Given the description of an element on the screen output the (x, y) to click on. 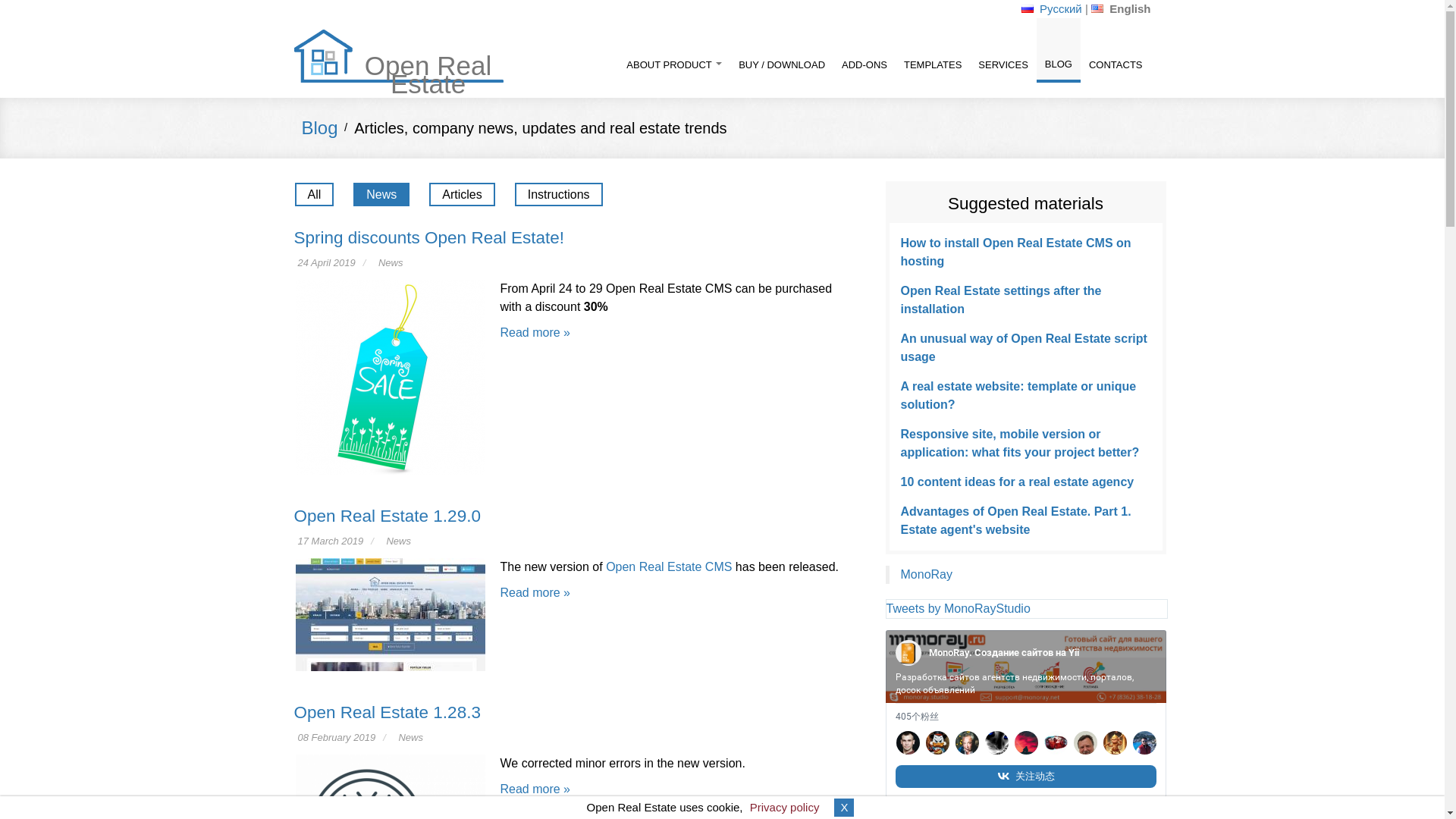
Spring discounts Open Real Estate! (429, 237)
ADD-ONS (863, 51)
Articles (462, 194)
Open Real Estate (398, 55)
News (381, 194)
Blog (319, 127)
English (1096, 8)
Open Real Estate 1.28.3 (387, 711)
News (397, 541)
News (410, 737)
X (843, 807)
News (390, 262)
ABOUT PRODUCT (673, 51)
All (313, 194)
Instructions (558, 194)
